Given the description of an element on the screen output the (x, y) to click on. 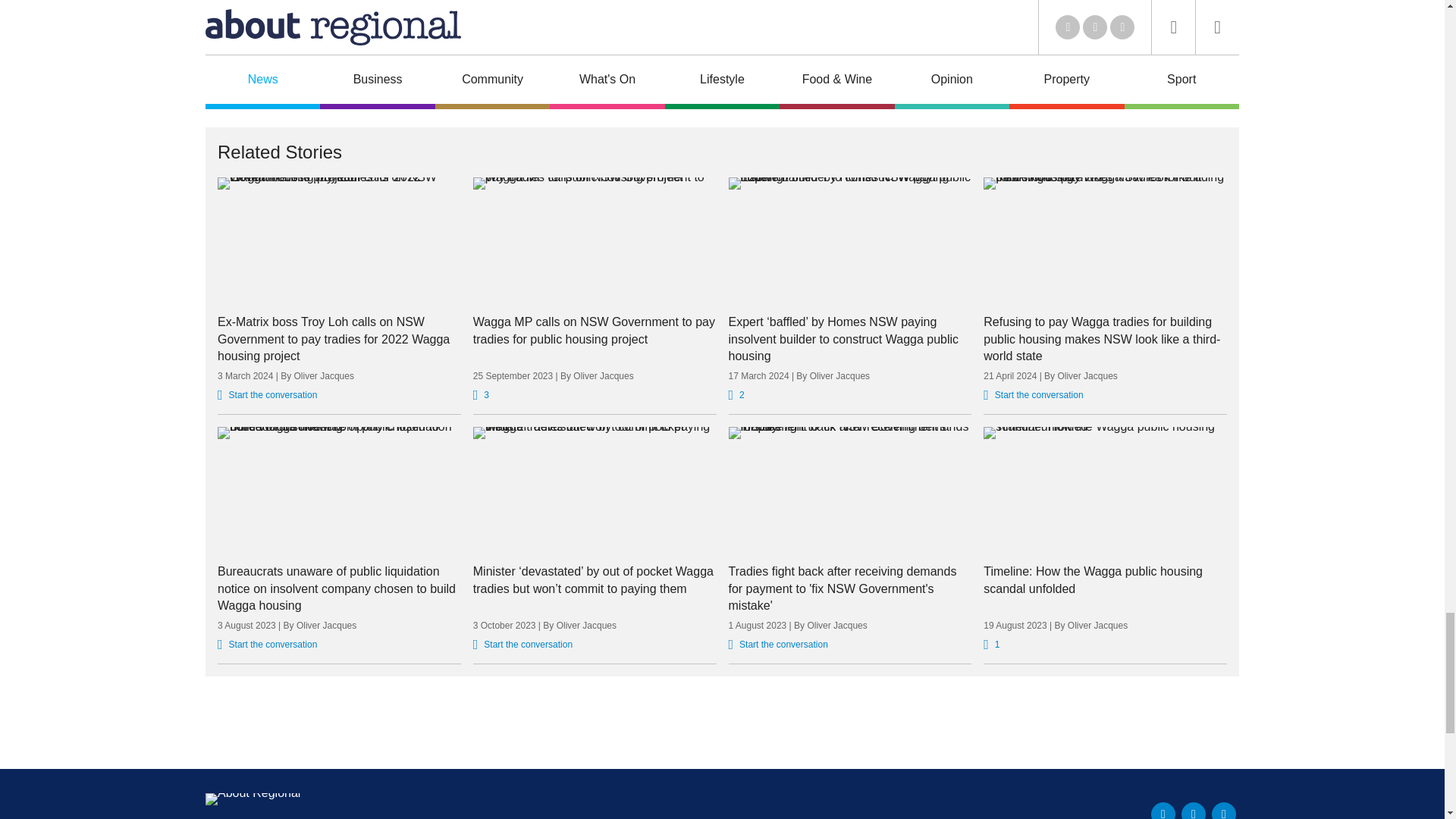
Twitter (1162, 810)
Facebook (1192, 810)
Instagram (1223, 810)
